Given the description of an element on the screen output the (x, y) to click on. 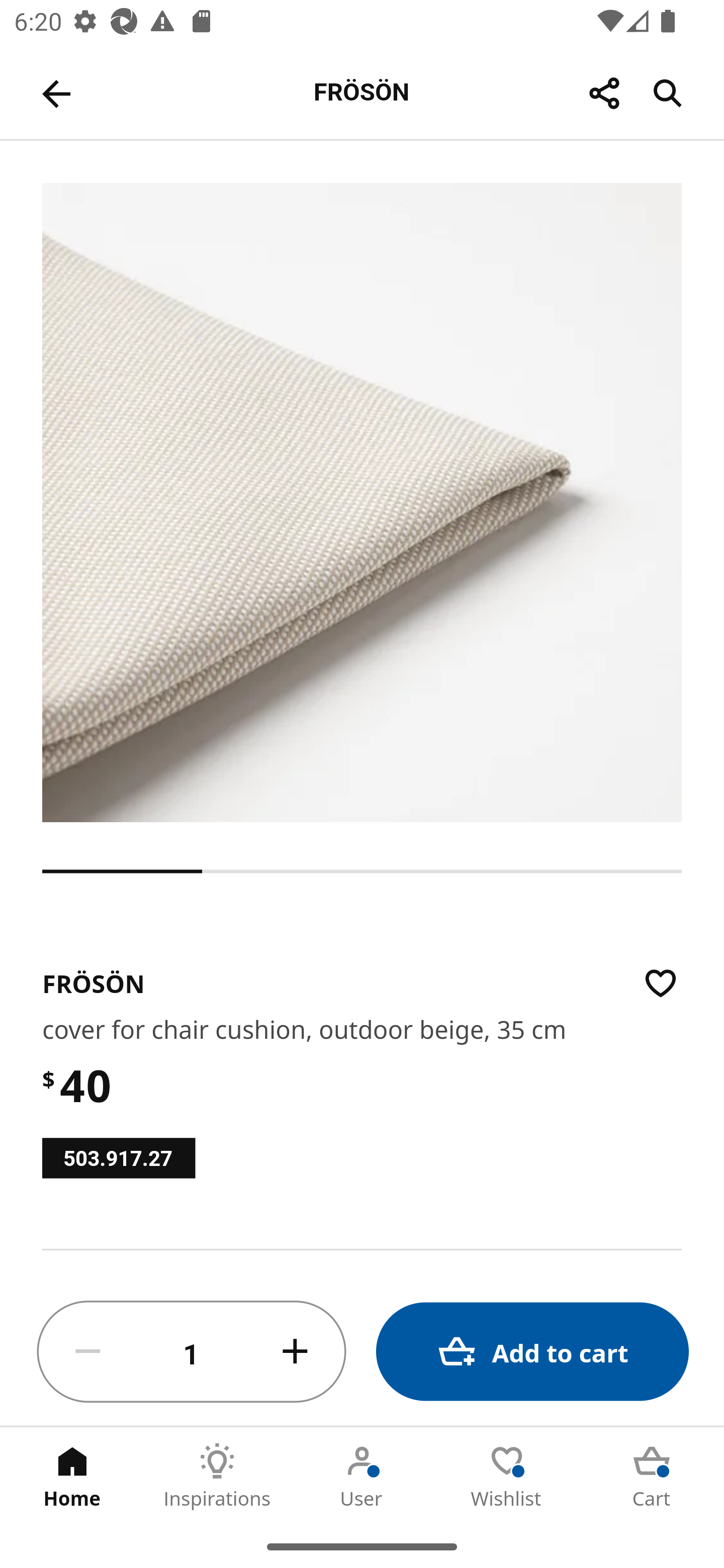
Add to cart (531, 1352)
1 (191, 1352)
Home
Tab 1 of 5 (72, 1476)
Inspirations
Tab 2 of 5 (216, 1476)
User
Tab 3 of 5 (361, 1476)
Wishlist
Tab 4 of 5 (506, 1476)
Cart
Tab 5 of 5 (651, 1476)
